Given the description of an element on the screen output the (x, y) to click on. 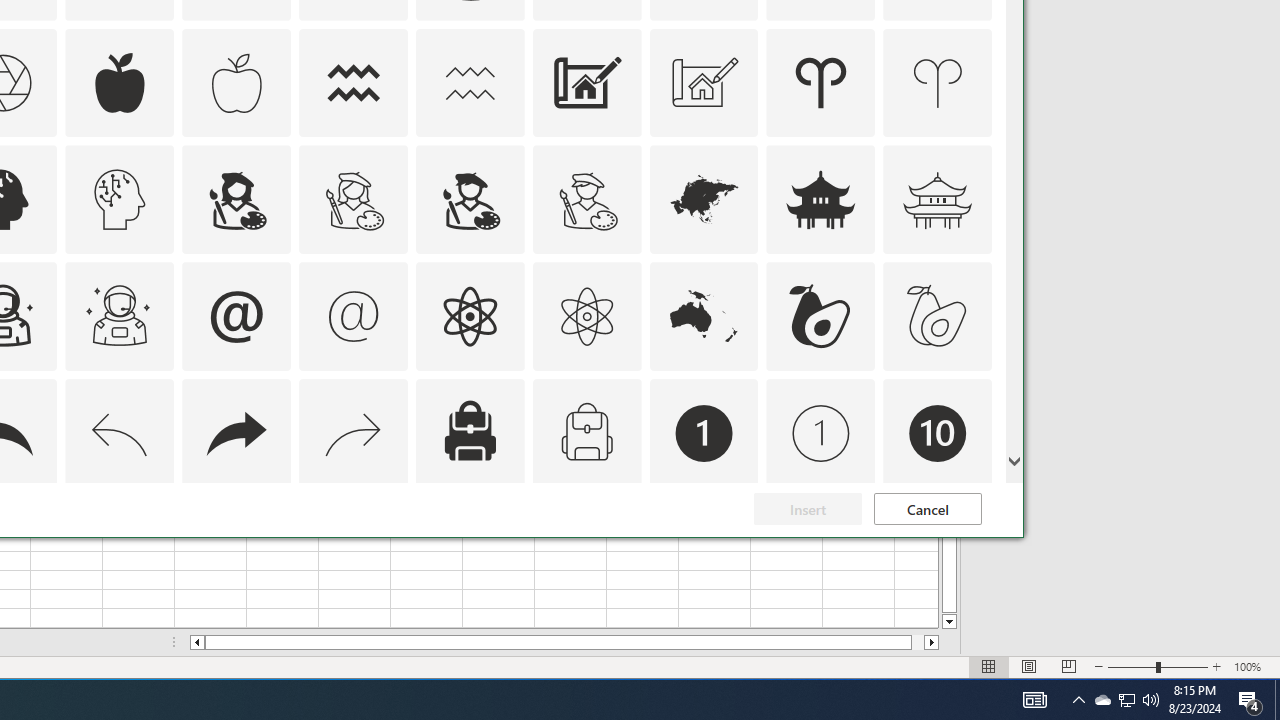
Q2790: 100% (1102, 699)
AutomationID: Icons_Back_LTR_M (1151, 699)
Action Center, 4 new notifications (120, 434)
AutomationID: Icons_AstronautMale_M (1250, 699)
AutomationID: Icons_ArtistFemale_M (120, 316)
AutomationID: Icons_Badge7 (353, 200)
AutomationID: Icons_ArtistMale_M (353, 550)
